Given the description of an element on the screen output the (x, y) to click on. 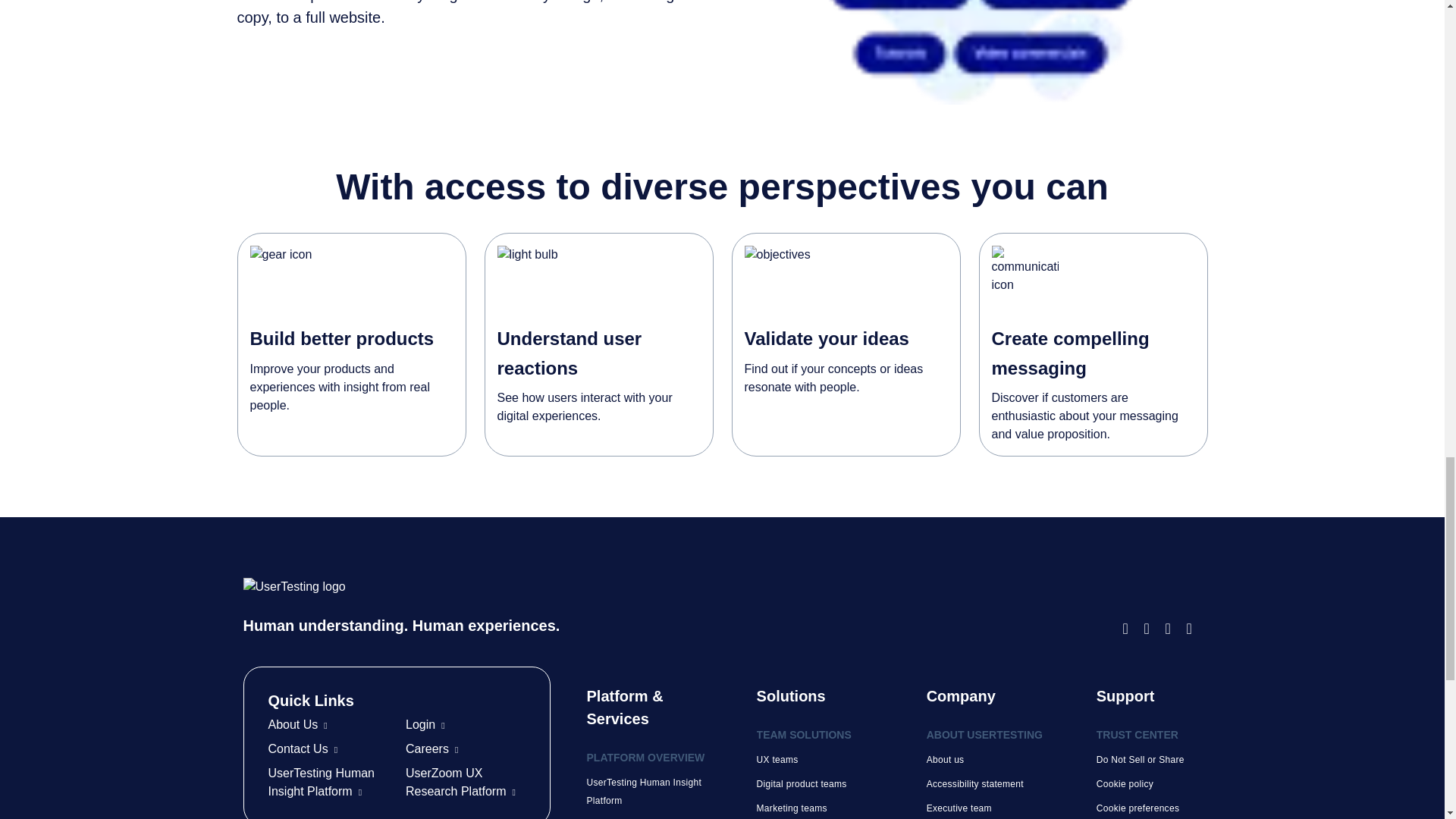
Contact Us (302, 748)
UserTesting Human Insight Platform (321, 781)
Human understanding. Human experiences. (679, 607)
UserTesting Human Insight Platform (643, 791)
About us (944, 759)
LinkedIn (1171, 628)
Careers (432, 748)
Instagram (1150, 628)
UX teams (777, 759)
Login (425, 724)
